Given the description of an element on the screen output the (x, y) to click on. 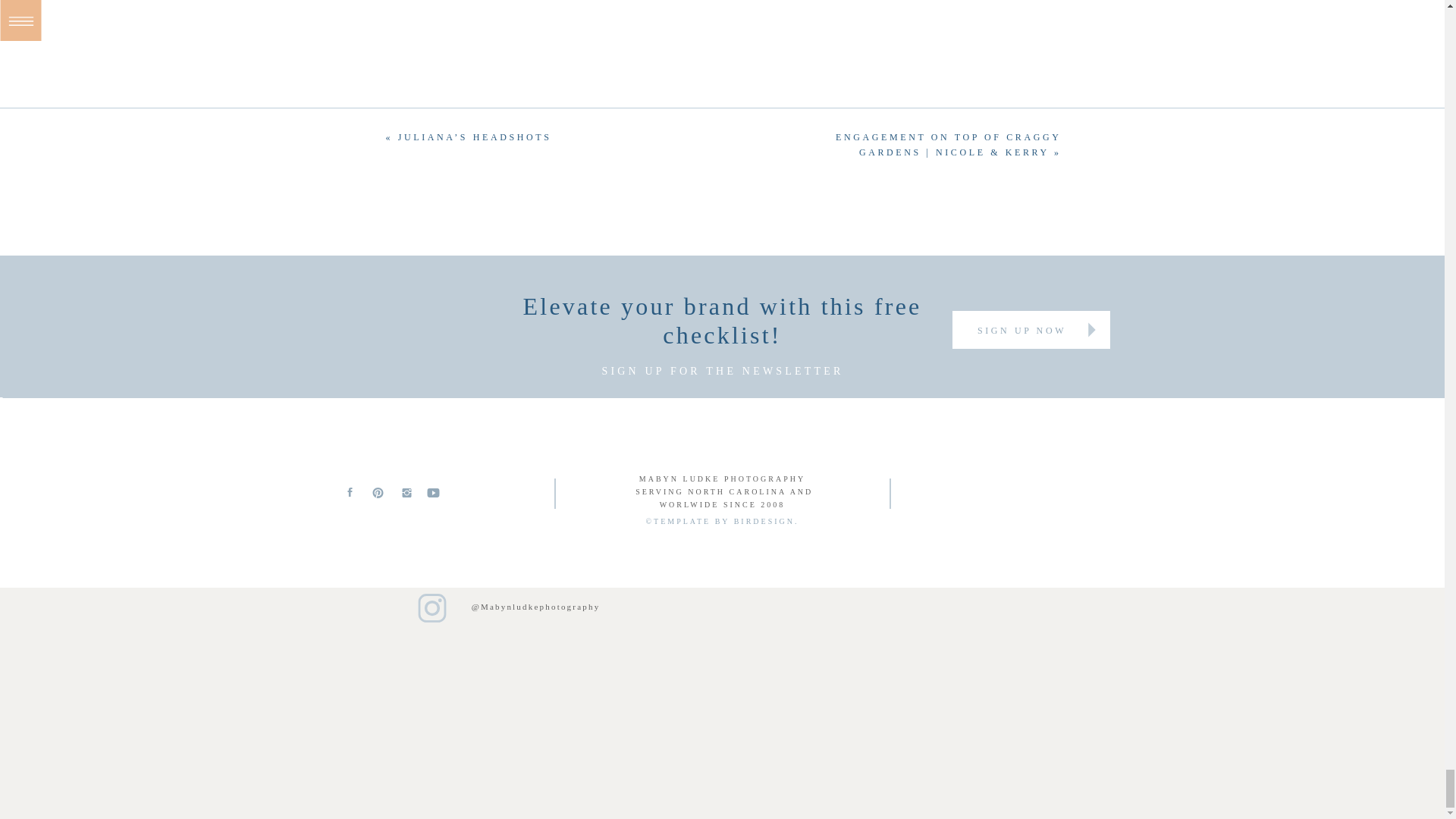
SIGN UP NOW (1021, 329)
BIRDESIGN (763, 520)
